Given the description of an element on the screen output the (x, y) to click on. 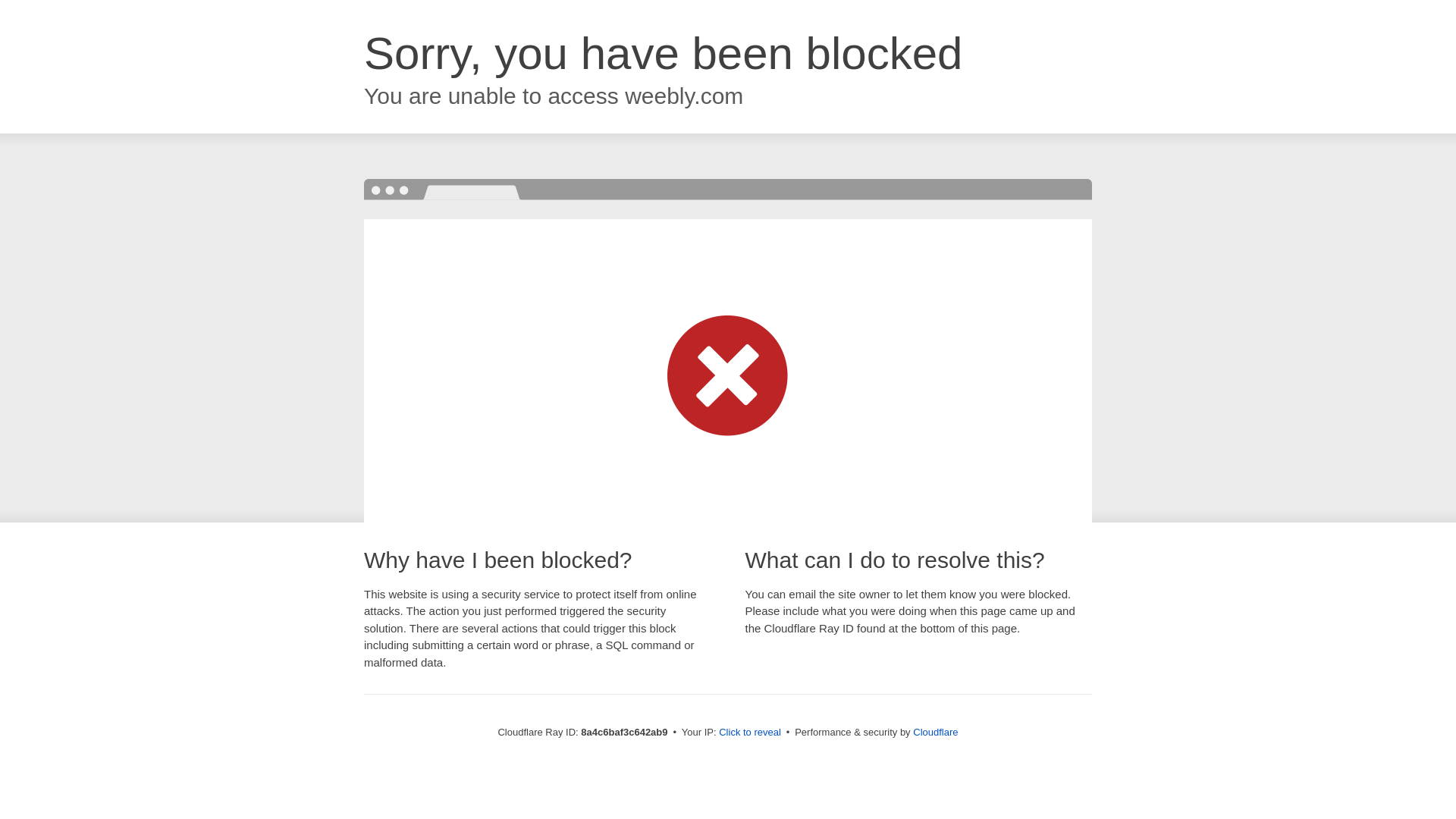
Cloudflare (935, 731)
Click to reveal (749, 732)
